Given the description of an element on the screen output the (x, y) to click on. 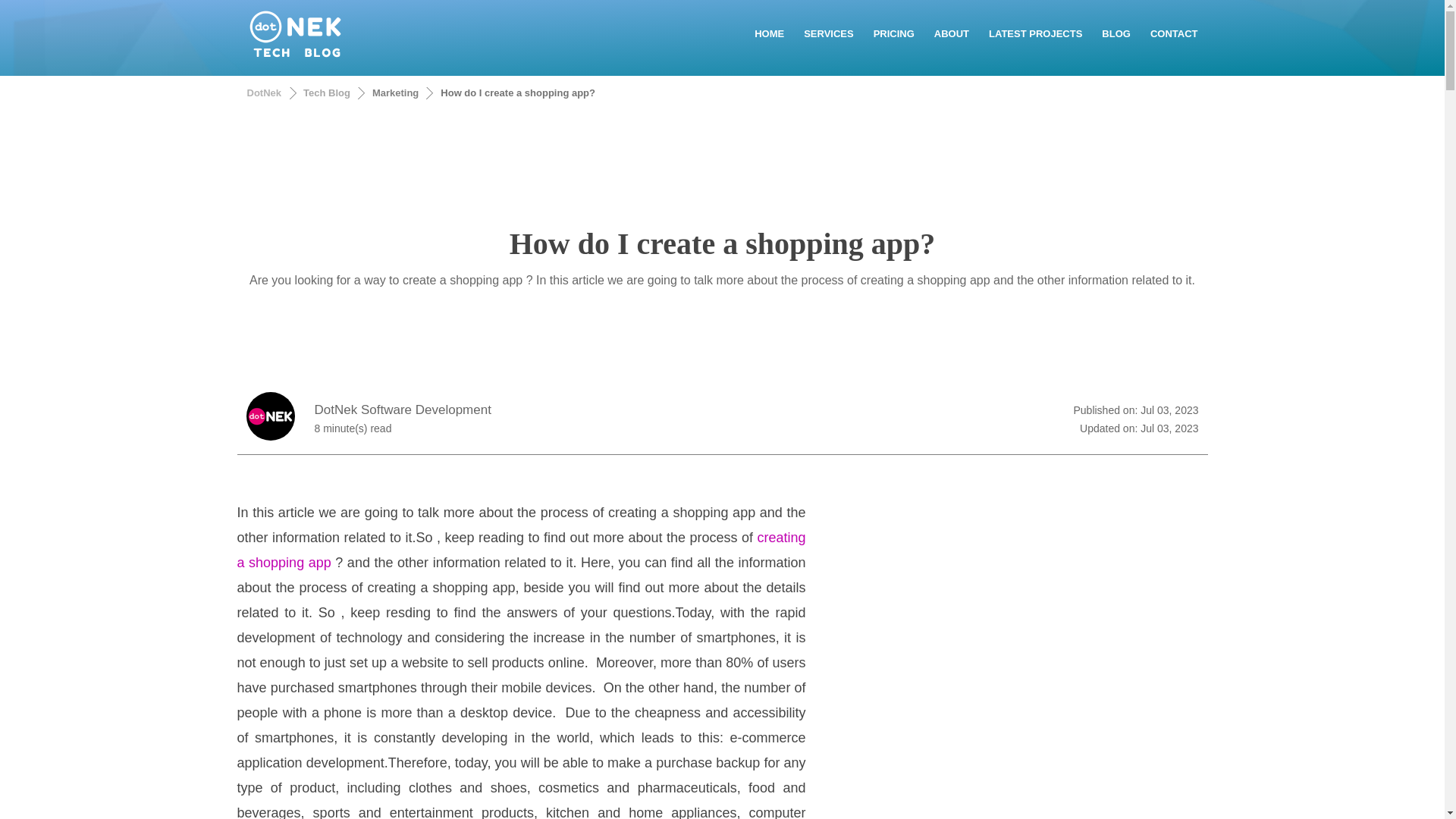
building a shopping application (520, 549)
LATEST PROJECTS (1035, 33)
CONTACT (1174, 33)
SERVICES (828, 33)
PRICING (893, 33)
